Given the description of an element on the screen output the (x, y) to click on. 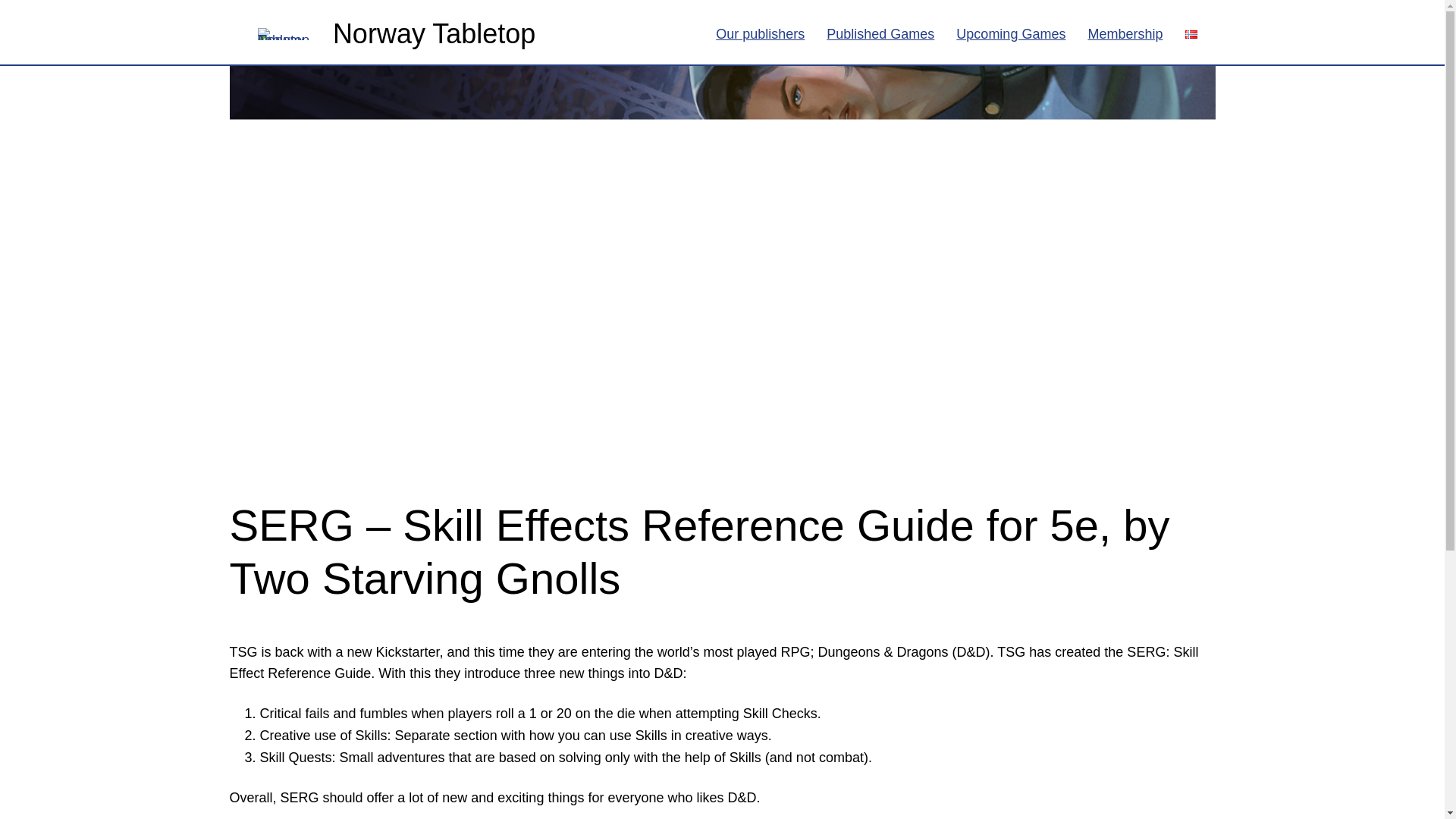
Published Games (880, 33)
Norway Tabletop (434, 33)
Upcoming Games (1010, 33)
Our publishers (760, 33)
Membership (1124, 33)
